Given the description of an element on the screen output the (x, y) to click on. 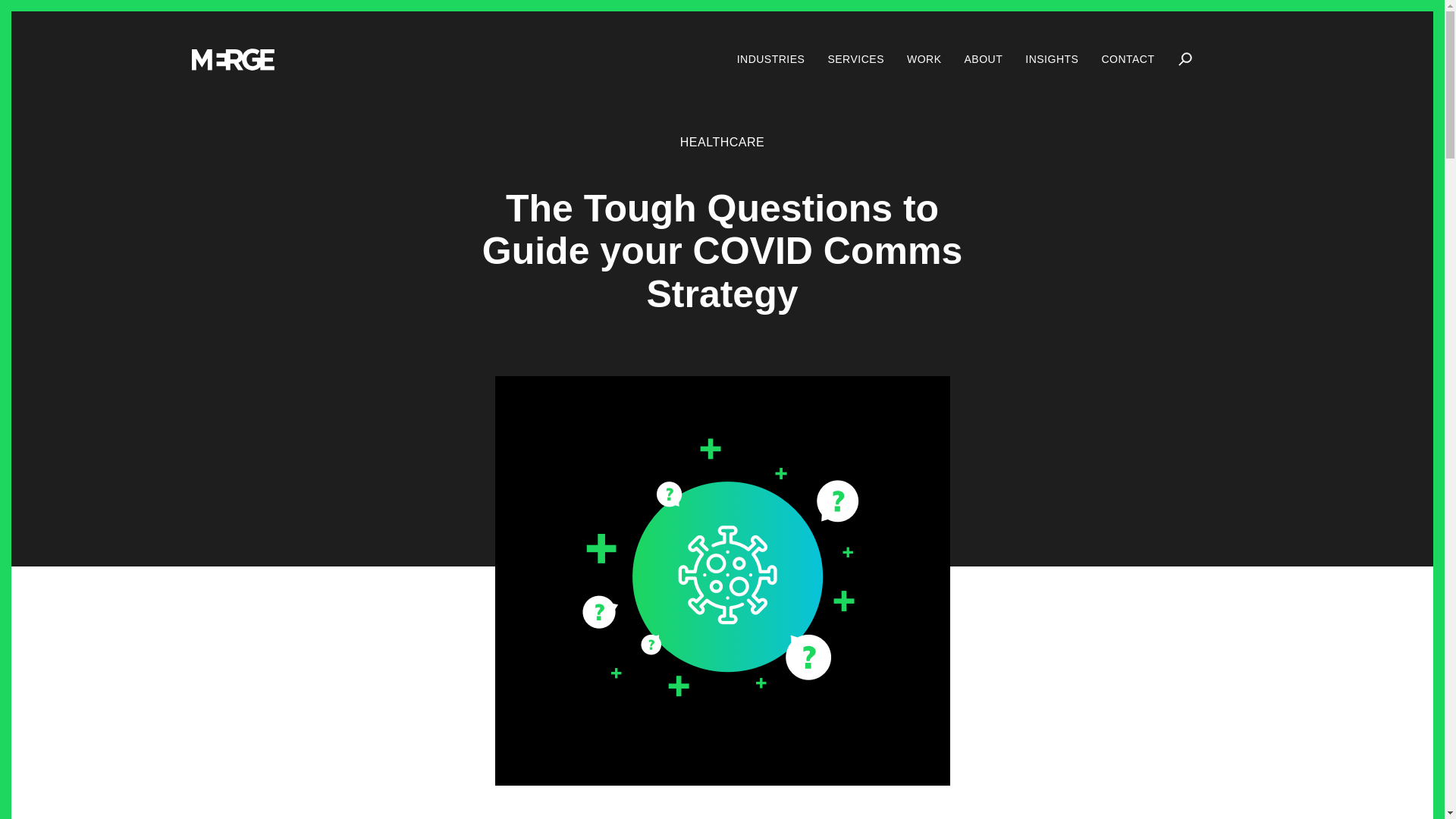
INSIGHTS (1051, 59)
ABOUT (983, 59)
SERVICES (855, 59)
INDUSTRIES (770, 59)
CONTACT (1127, 59)
WORK (924, 59)
